Given the description of an element on the screen output the (x, y) to click on. 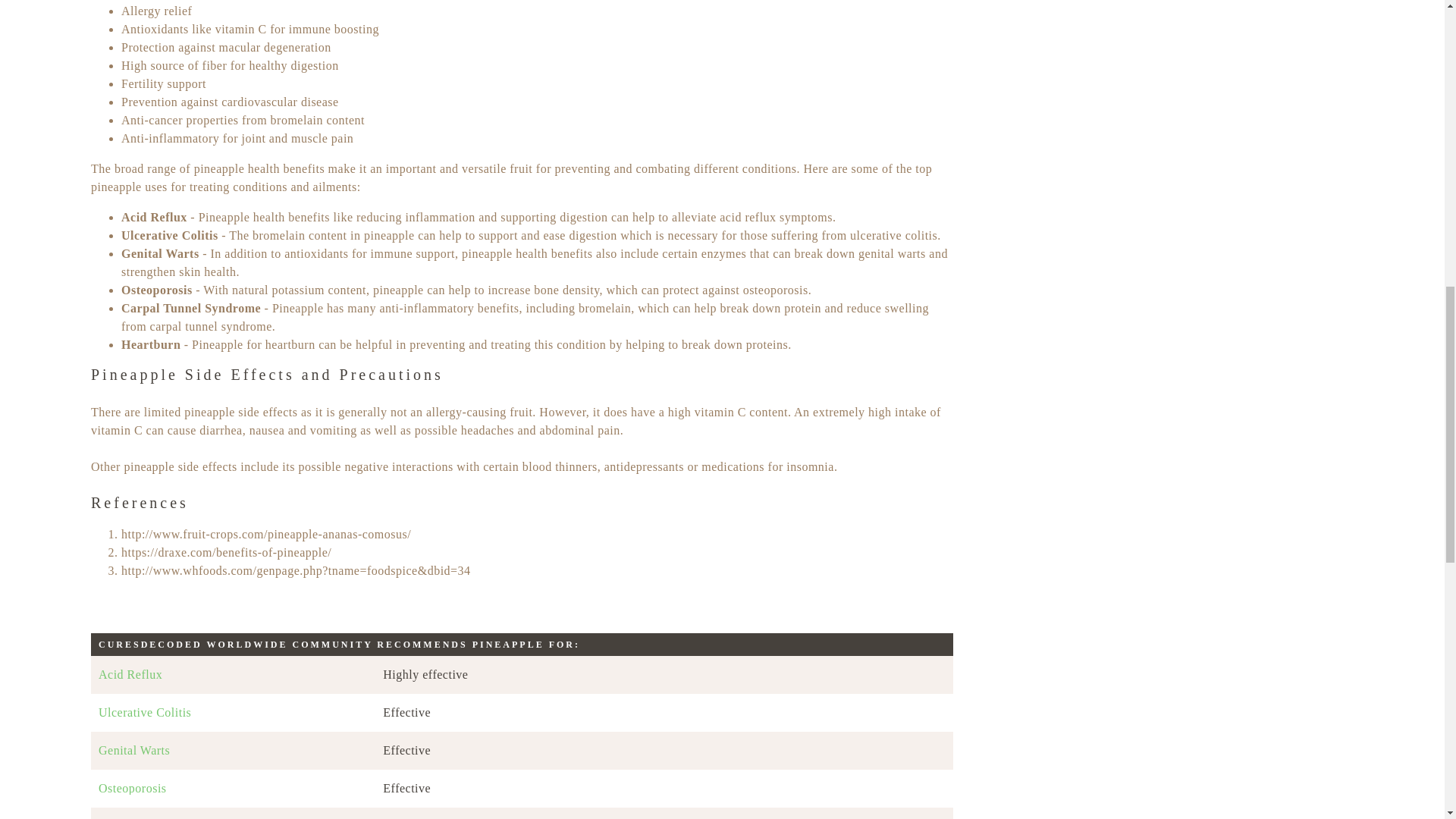
Osteoporosis (232, 788)
Acid Reflux (232, 674)
Ulcerative Colitis (232, 712)
Acid Reflux (232, 674)
Genital Warts (232, 750)
Ulcerative Colitis  (232, 712)
Genital Warts (232, 750)
Osteoporosis (232, 788)
